Given the description of an element on the screen output the (x, y) to click on. 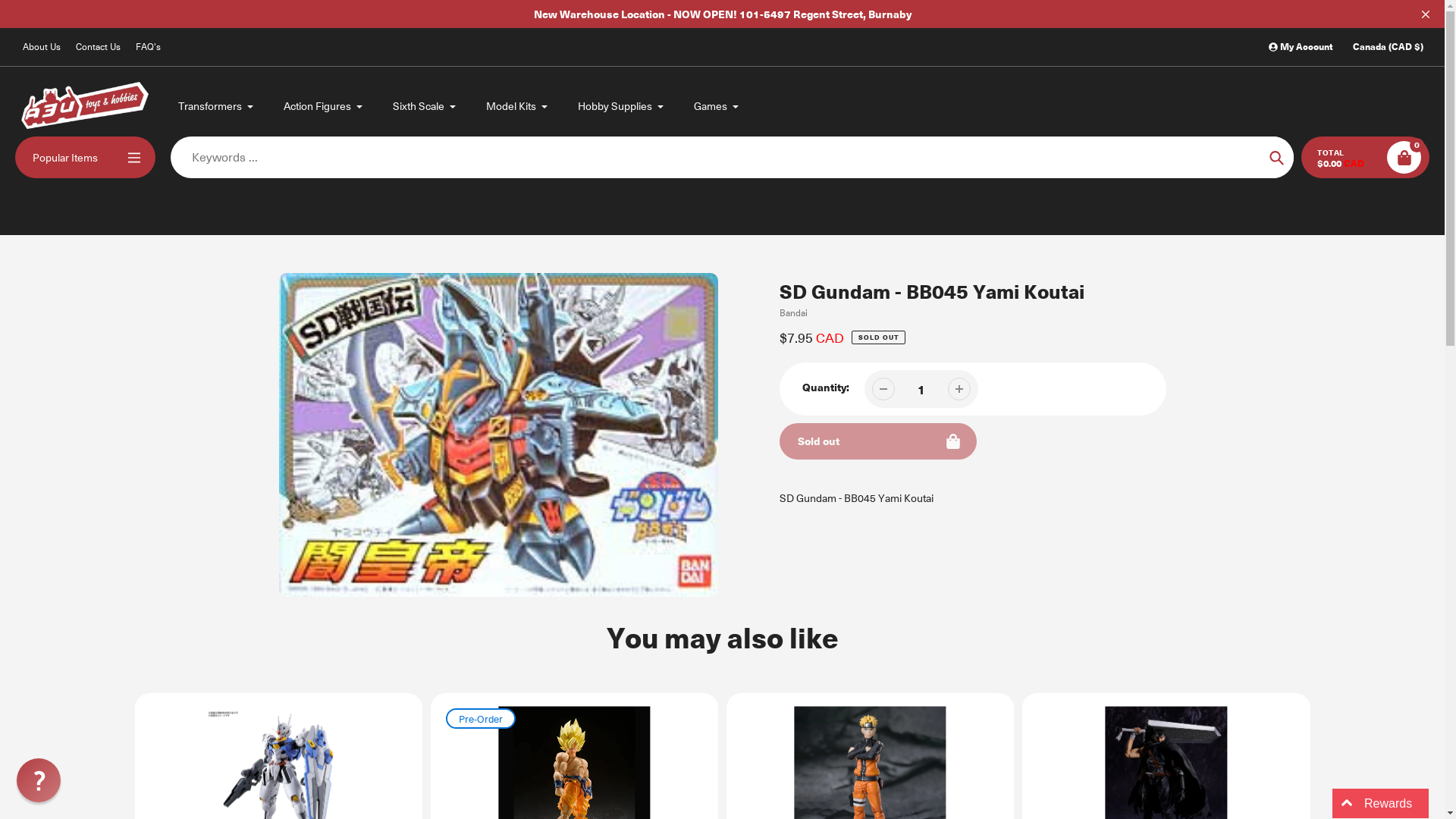
Canada (CAD $) Element type: text (1387, 46)
Hobby Supplies Element type: text (621, 105)
Sold out Element type: text (877, 441)
About Us Element type: text (41, 46)
My Account Element type: text (1300, 46)
Popular Items Element type: text (85, 157)
0 Element type: text (1403, 157)
FAQ's Element type: text (148, 46)
Action Figures Element type: text (323, 105)
Bandai Element type: text (793, 312)
Sixth Scale Element type: text (424, 105)
Transformers Element type: text (216, 105)
Send Element type: text (17, 644)
Contact Us Element type: text (98, 46)
Model Kits Element type: text (517, 105)
Search Element type: text (1276, 157)
Games Element type: text (716, 105)
